Given the description of an element on the screen output the (x, y) to click on. 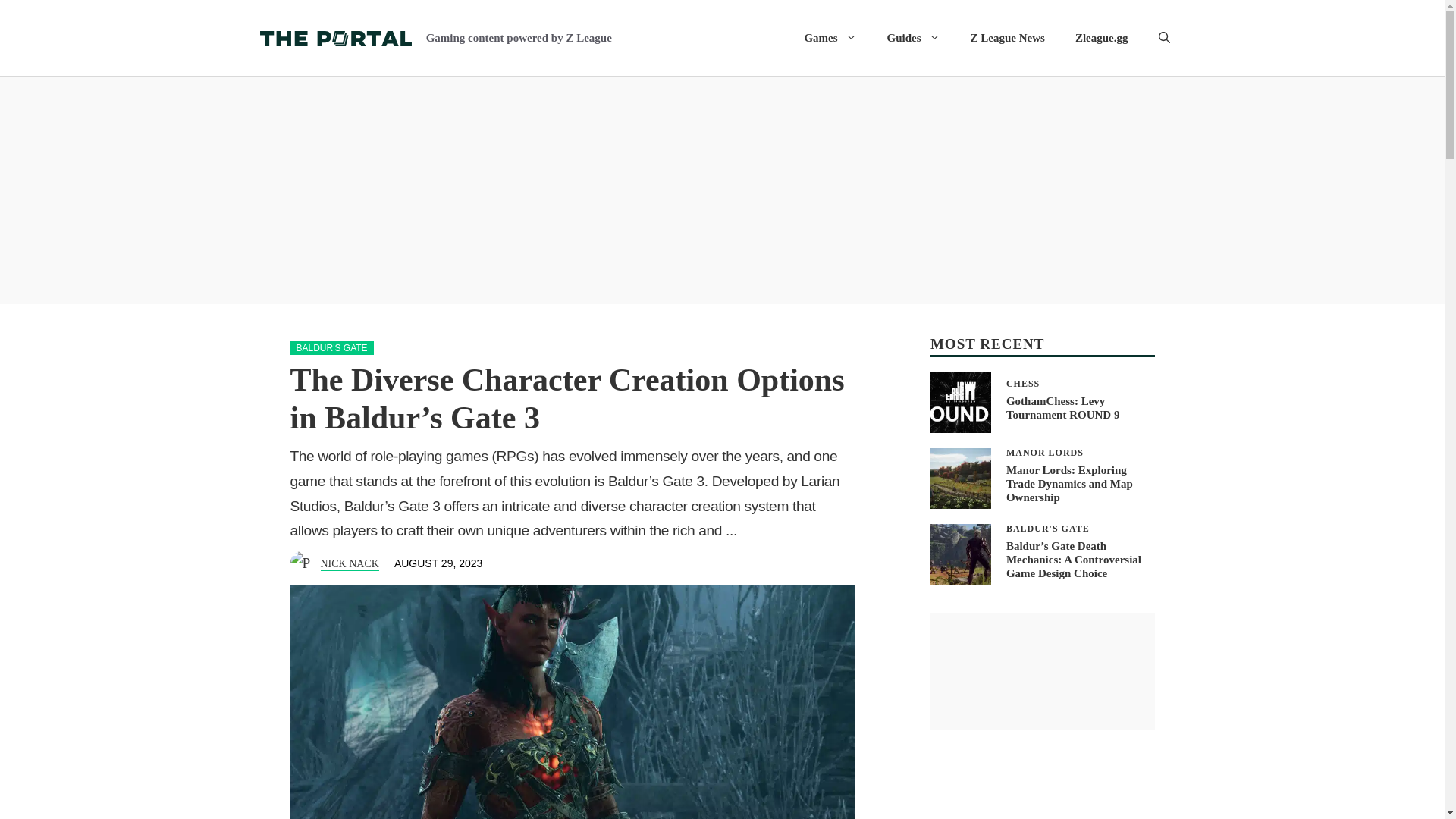
Z League News (1042, 402)
Games (1007, 37)
Zleague.gg (829, 37)
Guides (1100, 37)
